Given the description of an element on the screen output the (x, y) to click on. 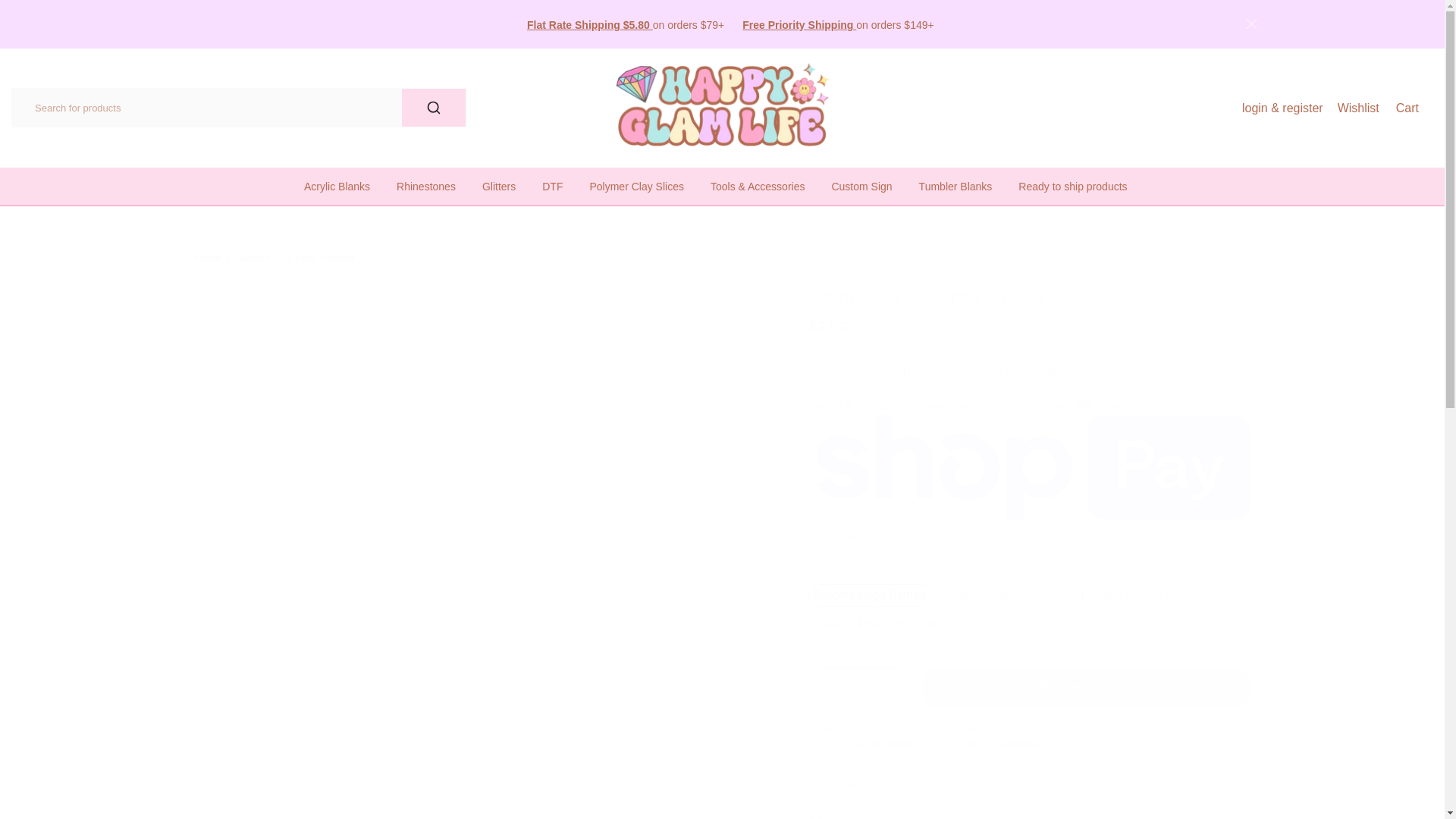
Rhinestones (426, 186)
Glitters (498, 186)
Cart (1407, 107)
Tumbler Blanks (955, 186)
close (1250, 23)
Ready to ship products (1073, 186)
Polymer Clay Slices (636, 186)
DTF (552, 186)
Wishlist (1358, 107)
ADD TO CART (1085, 688)
Compare (994, 744)
Custom Sign (861, 186)
Home (207, 258)
Ask a Question (841, 785)
Skip to content (10, 7)
